Given the description of an element on the screen output the (x, y) to click on. 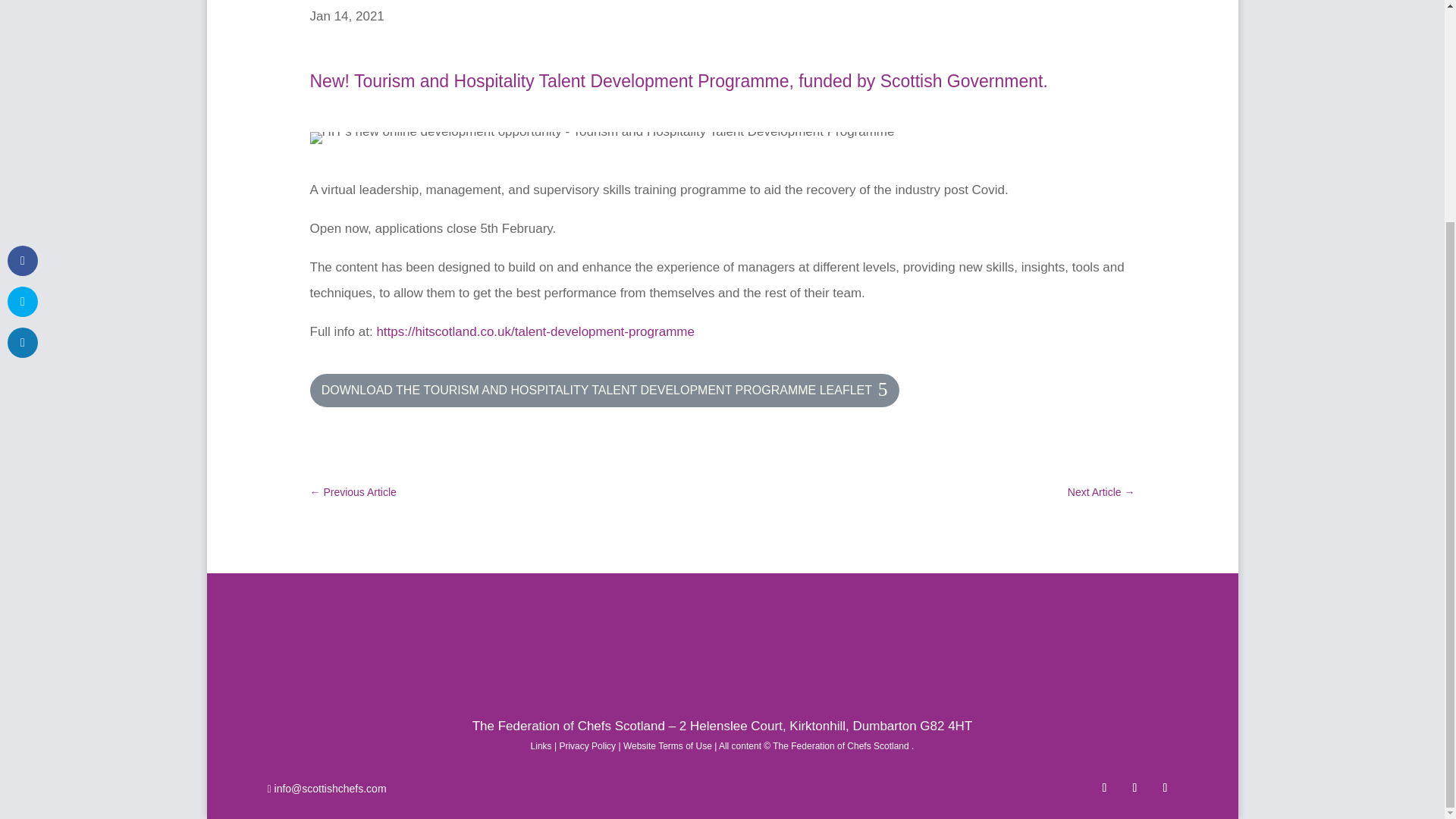
Links (541, 746)
Website Terms of Use (667, 746)
Follow on Twitter (1134, 787)
Follow on Facebook (1104, 787)
Visit the World Chefs Association website (722, 649)
Follow on Instagram (1164, 787)
Privacy Policy (587, 746)
